Given the description of an element on the screen output the (x, y) to click on. 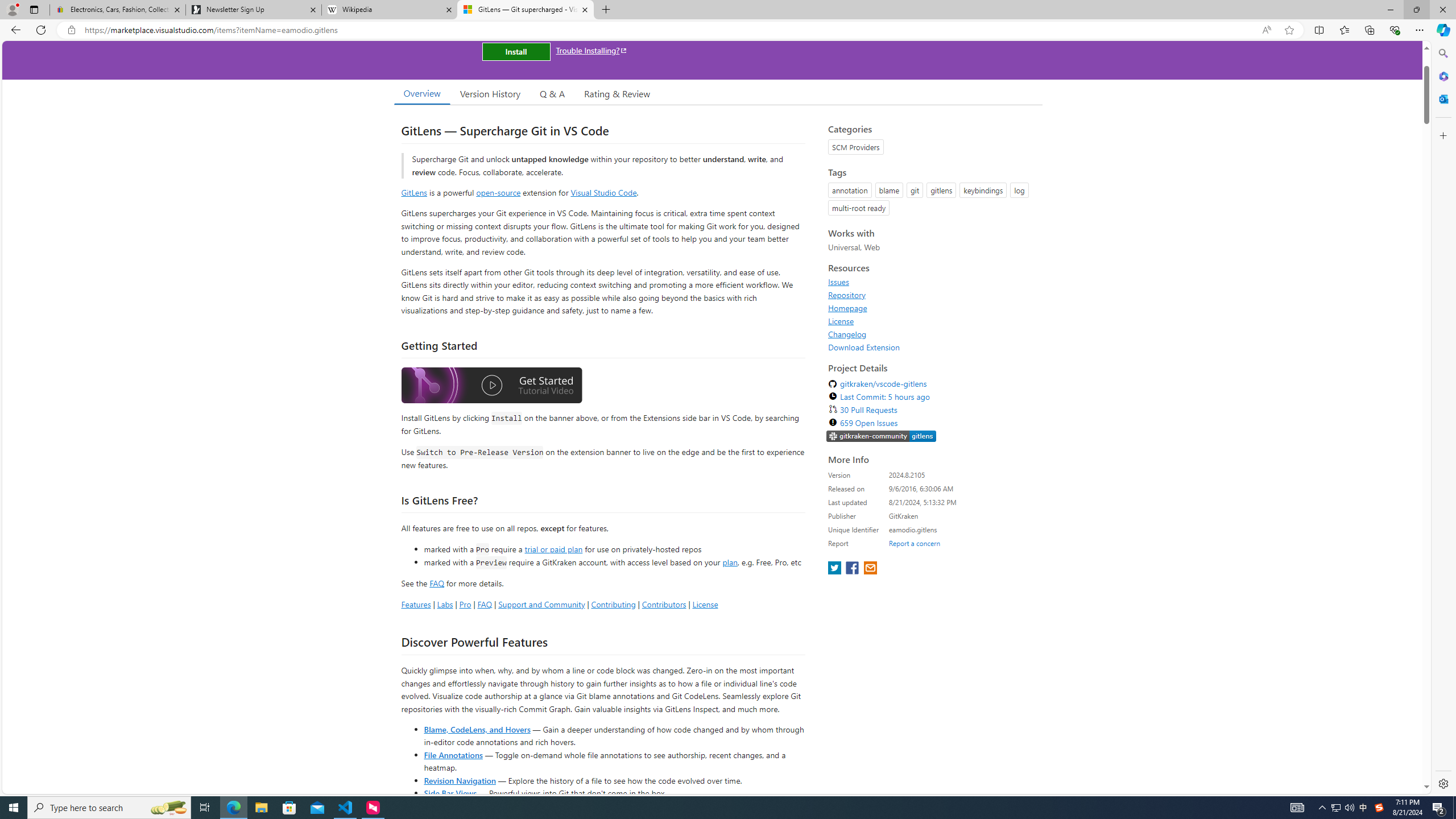
Pro (464, 603)
Wikipedia (390, 9)
GitLens (414, 192)
Version History (489, 92)
Labs (444, 603)
Support and Community (541, 603)
Electronics, Cars, Fashion, Collectibles & More | eBay (117, 9)
Side Bar Views (449, 792)
